Given the description of an element on the screen output the (x, y) to click on. 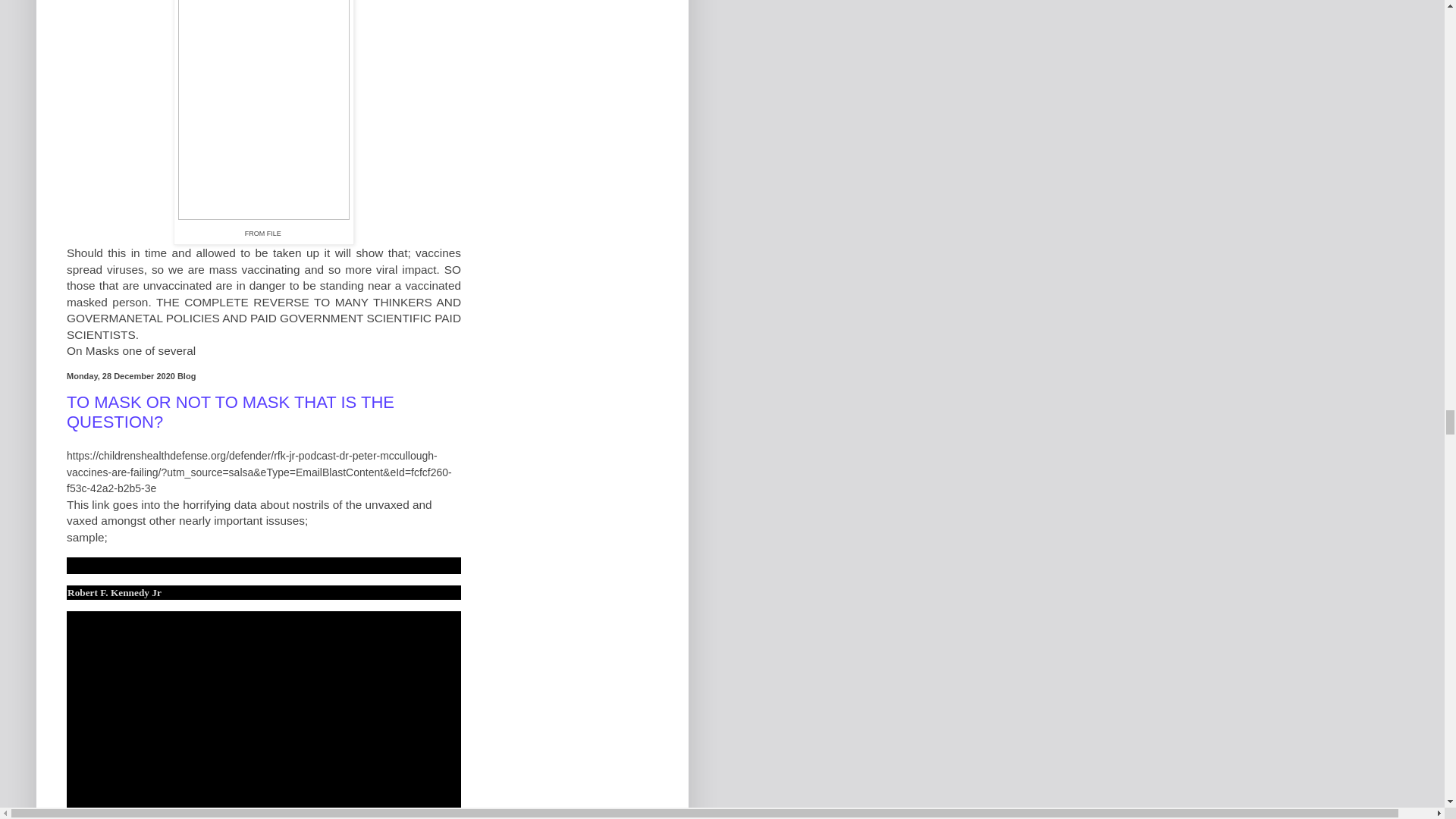
Robert F. Kennedy Jr (113, 592)
TO MASK OR NOT TO MASK THAT IS THE QUESTION? (230, 412)
